Given the description of an element on the screen output the (x, y) to click on. 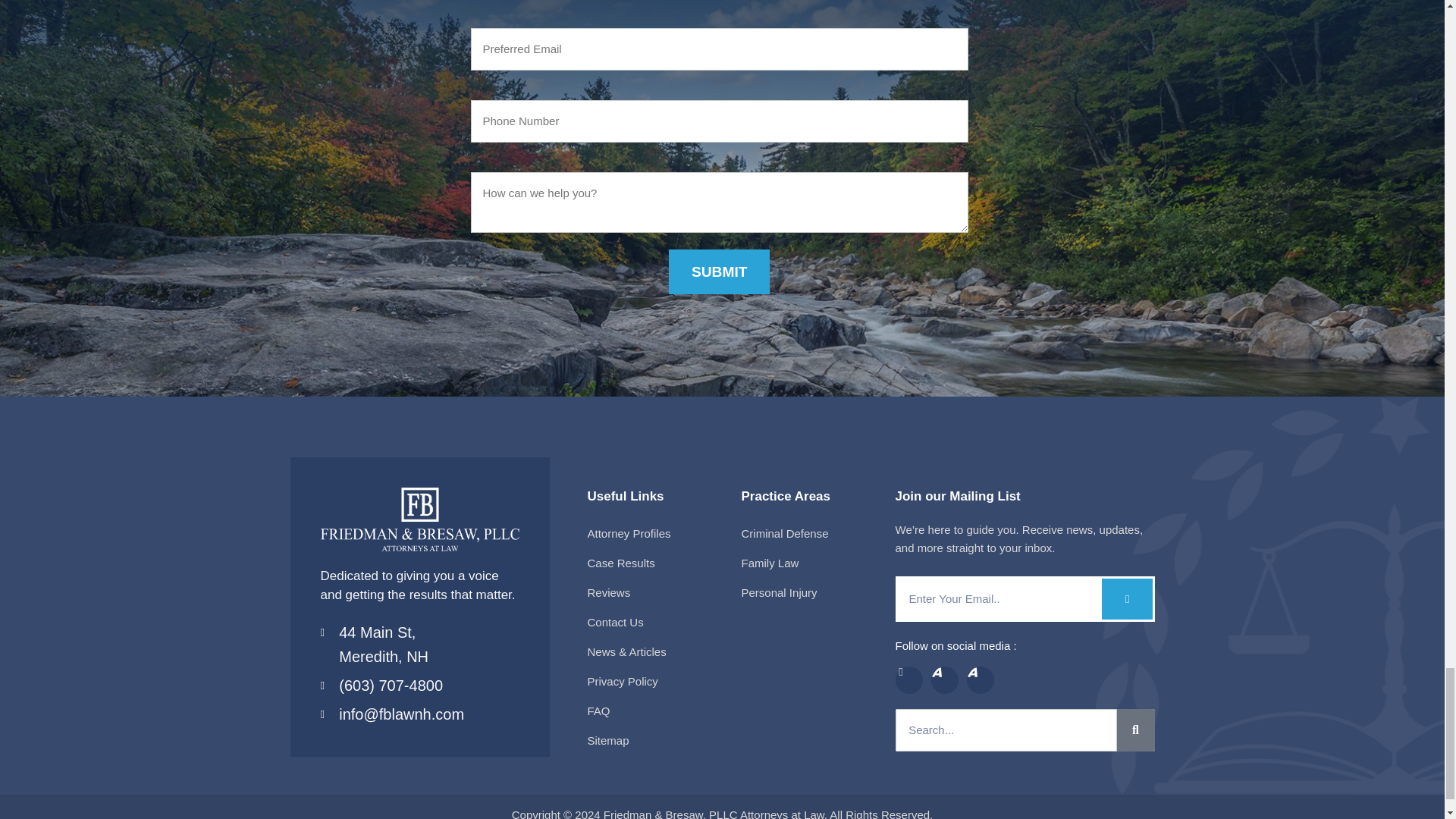
Submit (719, 271)
